Given the description of an element on the screen output the (x, y) to click on. 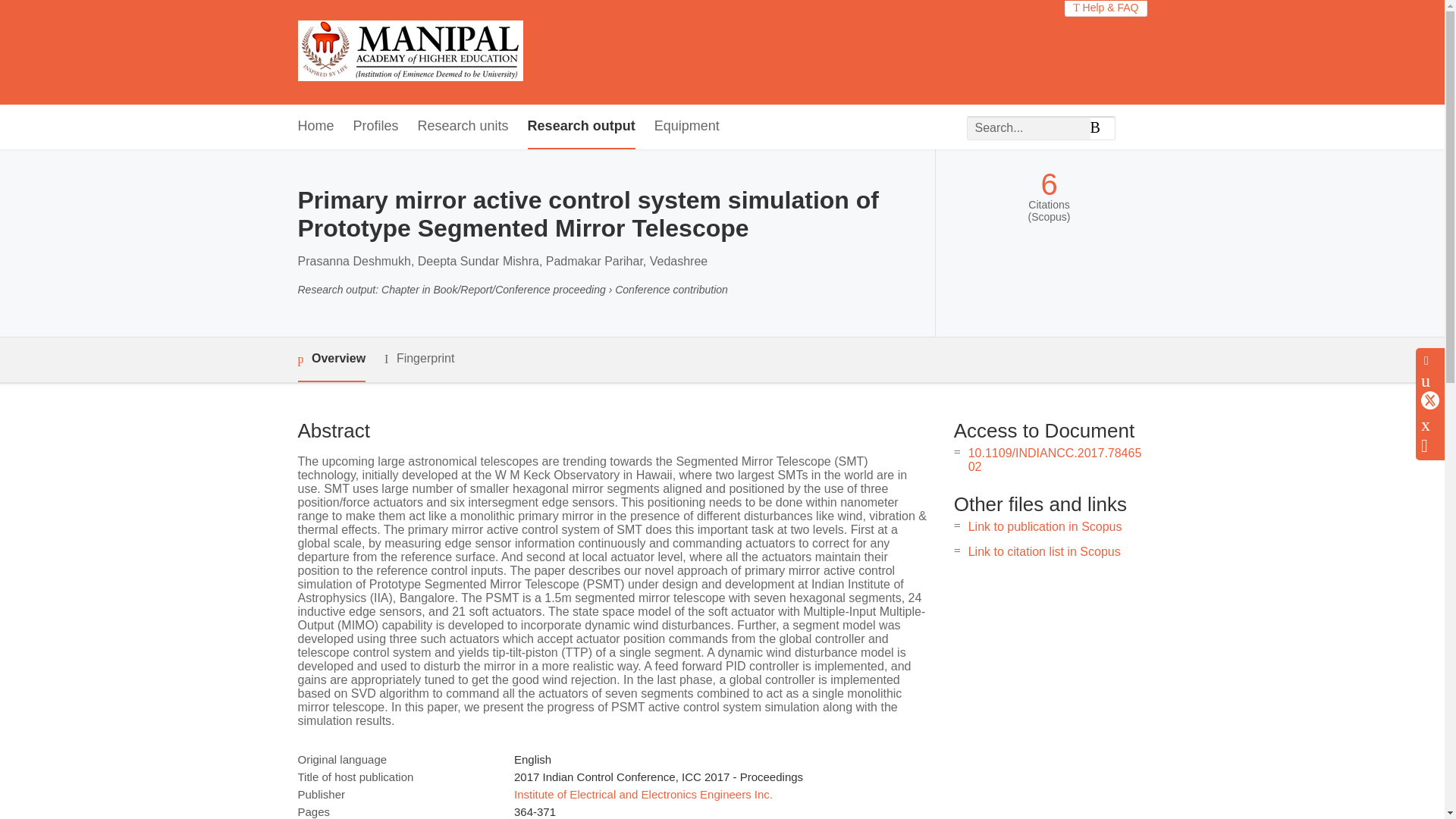
Overview (331, 359)
Link to publication in Scopus (1045, 526)
Equipment (686, 126)
Fingerprint (419, 358)
Research output (580, 126)
Manipal Academy of Higher Education, Manipal, India Home (409, 52)
Institute of Electrical and Electronics Engineers Inc. (643, 793)
Profiles (375, 126)
Research units (462, 126)
